Given the description of an element on the screen output the (x, y) to click on. 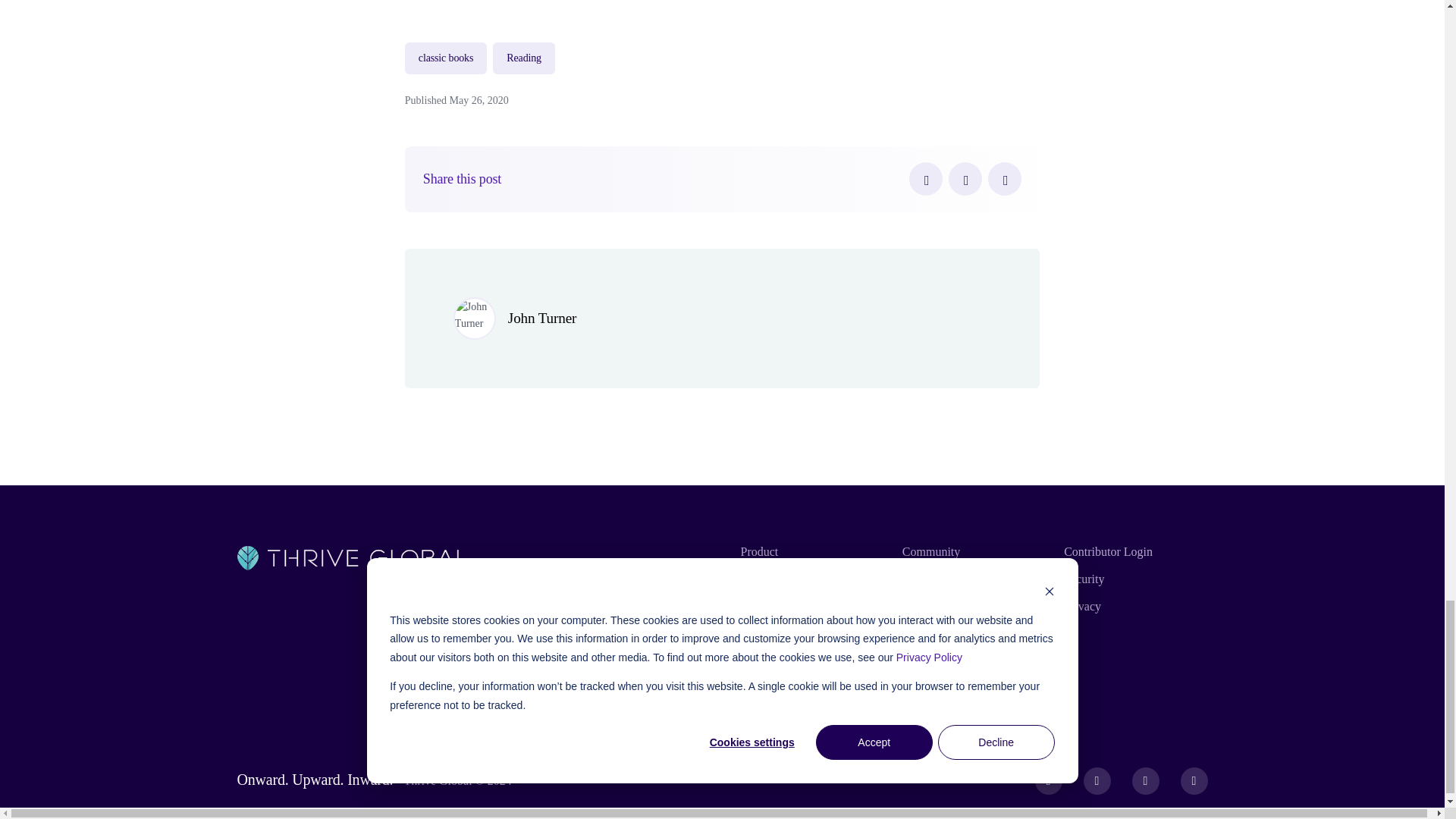
John Turner (542, 317)
LinkedIn (1005, 178)
Twitter (965, 178)
Facebook (925, 178)
